Given the description of an element on the screen output the (x, y) to click on. 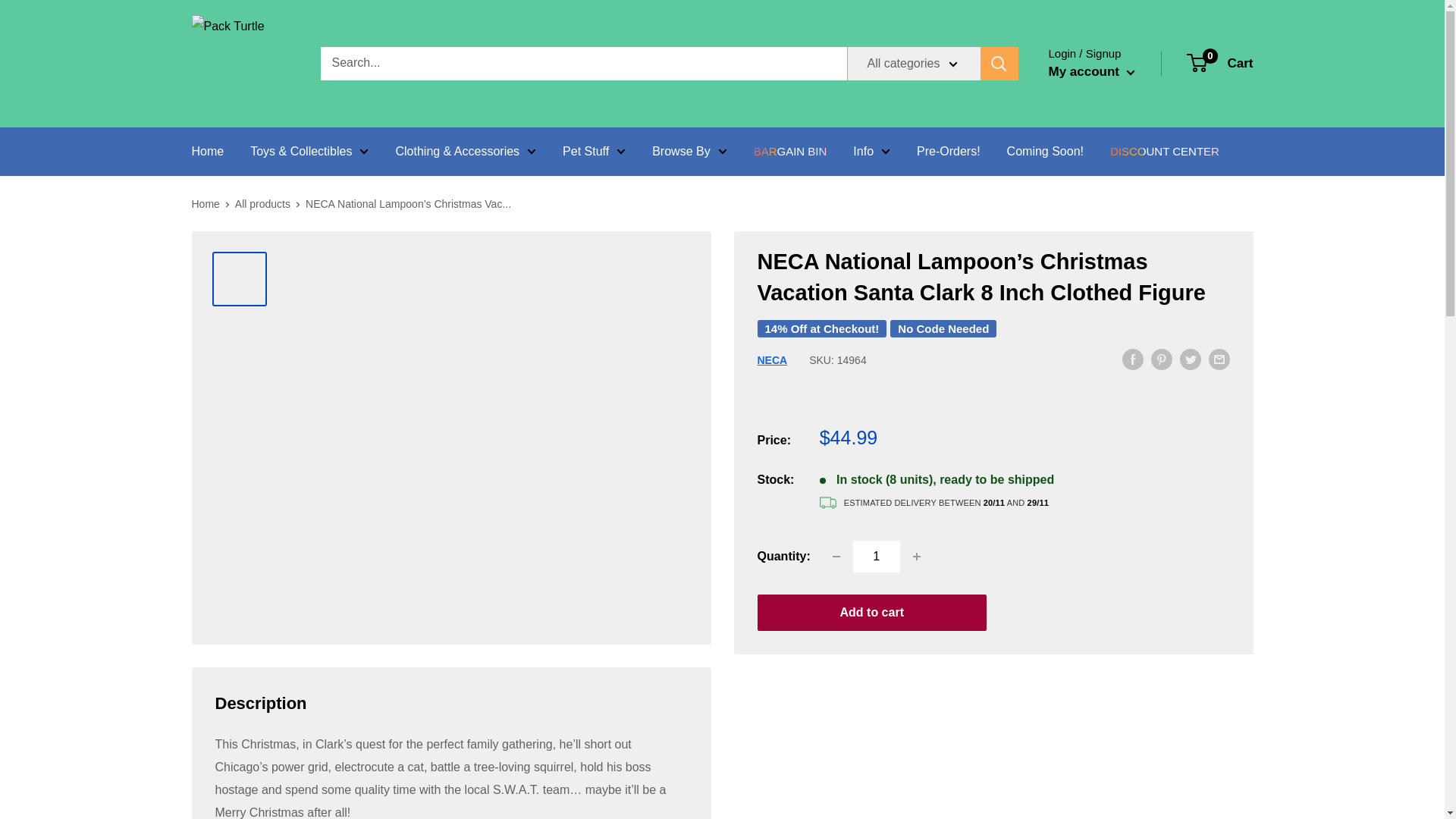
Increase quantity by 1 (917, 556)
1 (876, 556)
Decrease quantity by 1 (836, 556)
